Given the description of an element on the screen output the (x, y) to click on. 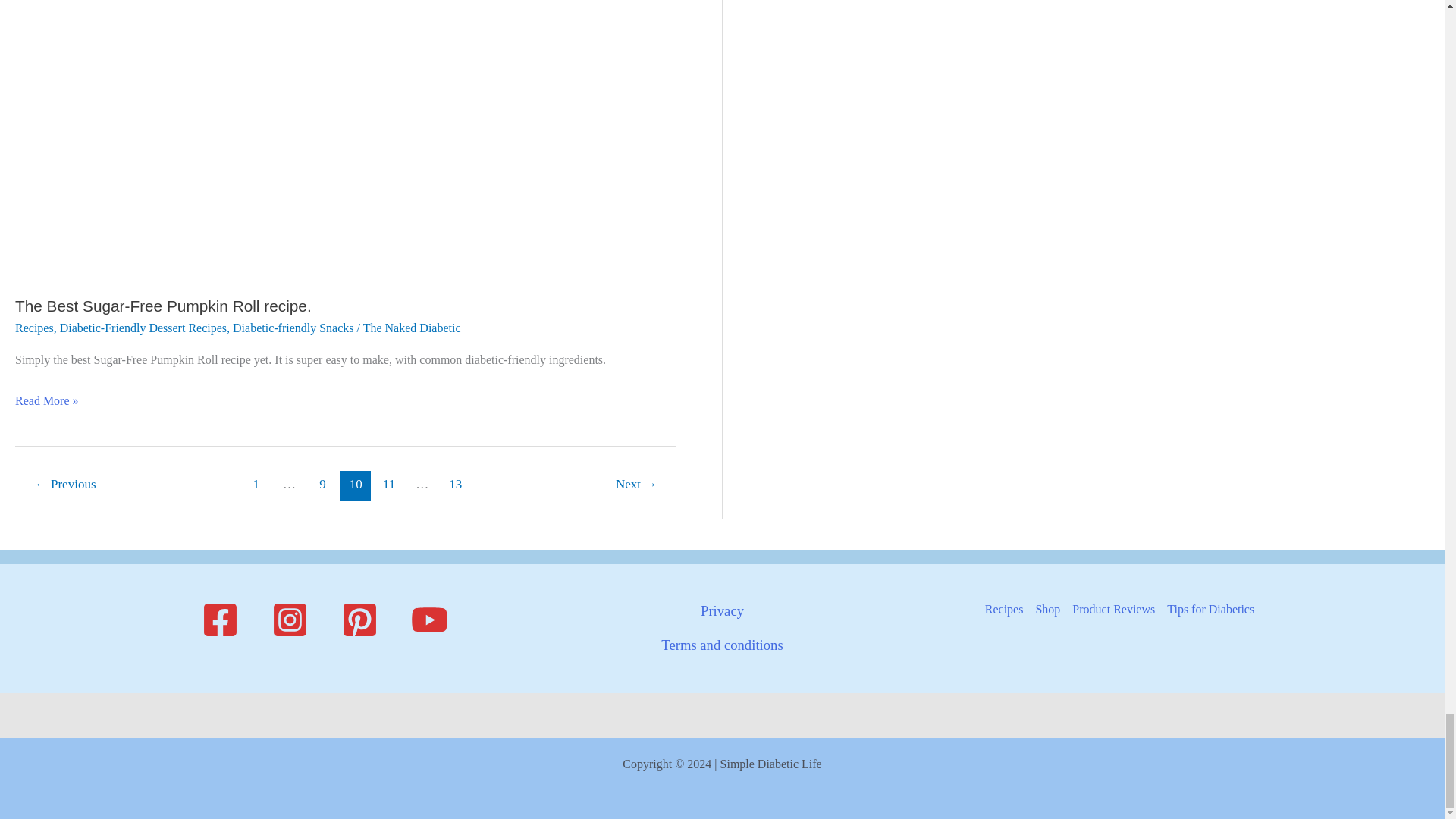
View all posts by The Naked Diabetic (411, 327)
